Given the description of an element on the screen output the (x, y) to click on. 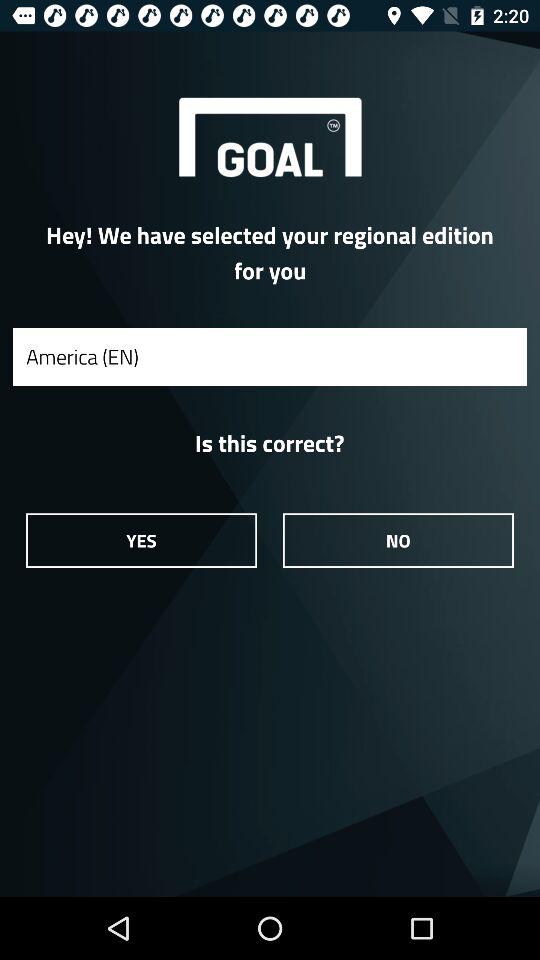
click the item to the left of no (141, 540)
